Given the description of an element on the screen output the (x, y) to click on. 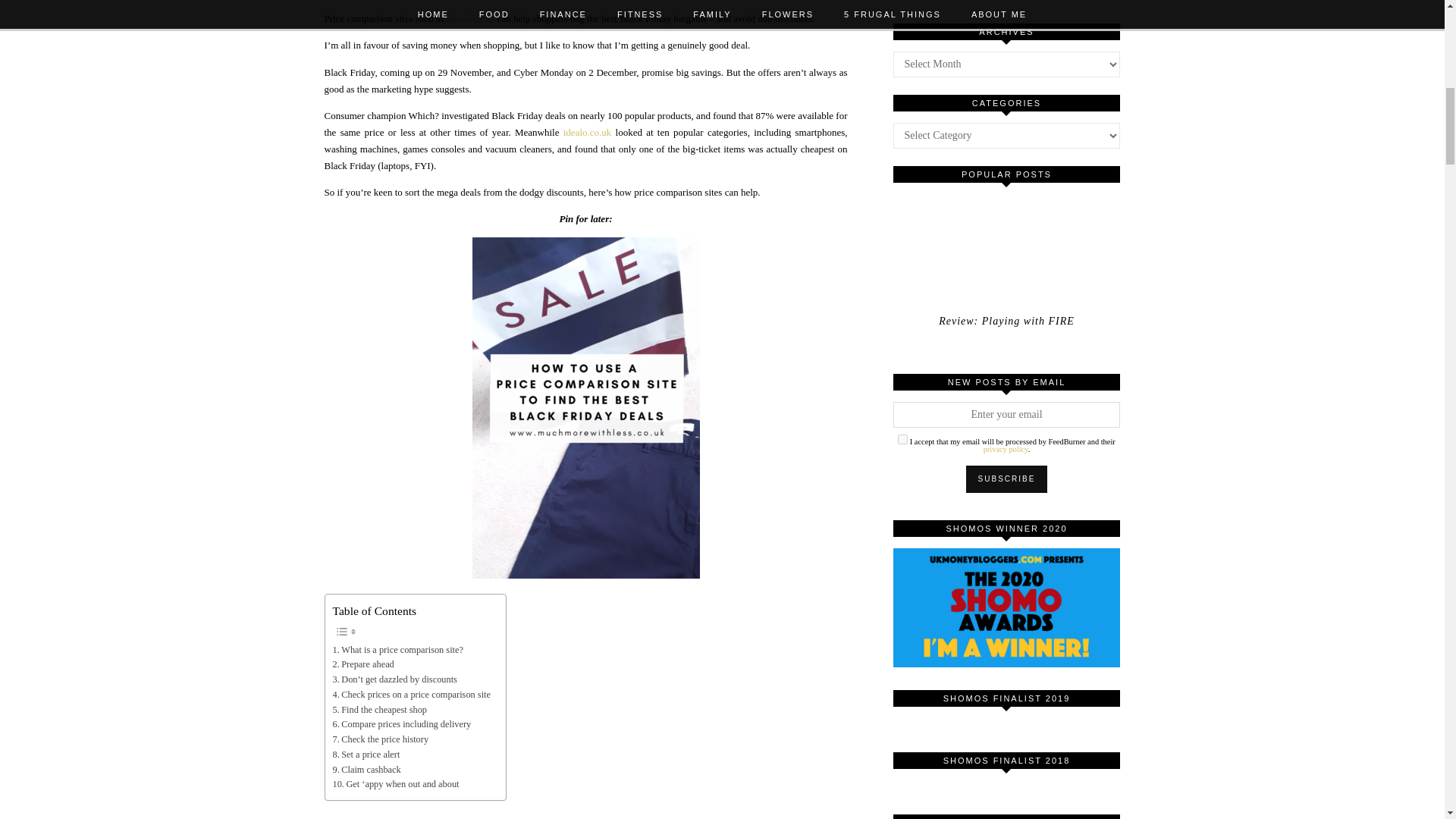
Set a price alert (364, 754)
Compare prices including delivery (400, 724)
Prepare ahead (362, 664)
Check prices on a price comparison site (410, 694)
Subscribe (1007, 479)
1 (902, 439)
Find the cheapest shop (378, 710)
Check the price history (379, 739)
idealo.co.uk (470, 18)
Find the cheapest shop (378, 710)
What is a price comparison site? (397, 650)
Claim cashback (365, 770)
What is a price comparison site? (397, 650)
Check prices on a price comparison site (410, 694)
Prepare ahead (362, 664)
